Given the description of an element on the screen output the (x, y) to click on. 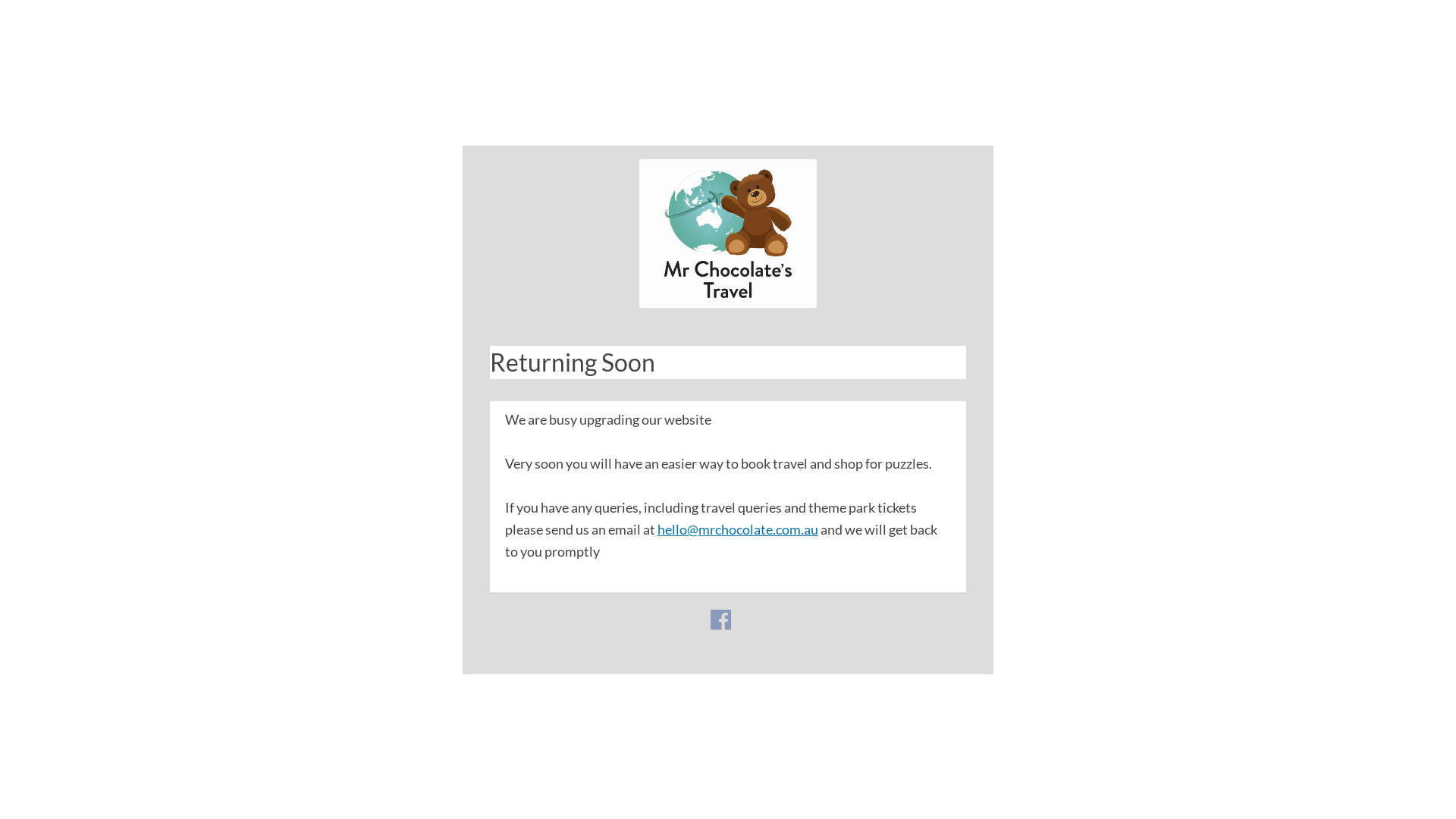
hello@mrchocolate.com.au Element type: text (737, 528)
